Given the description of an element on the screen output the (x, y) to click on. 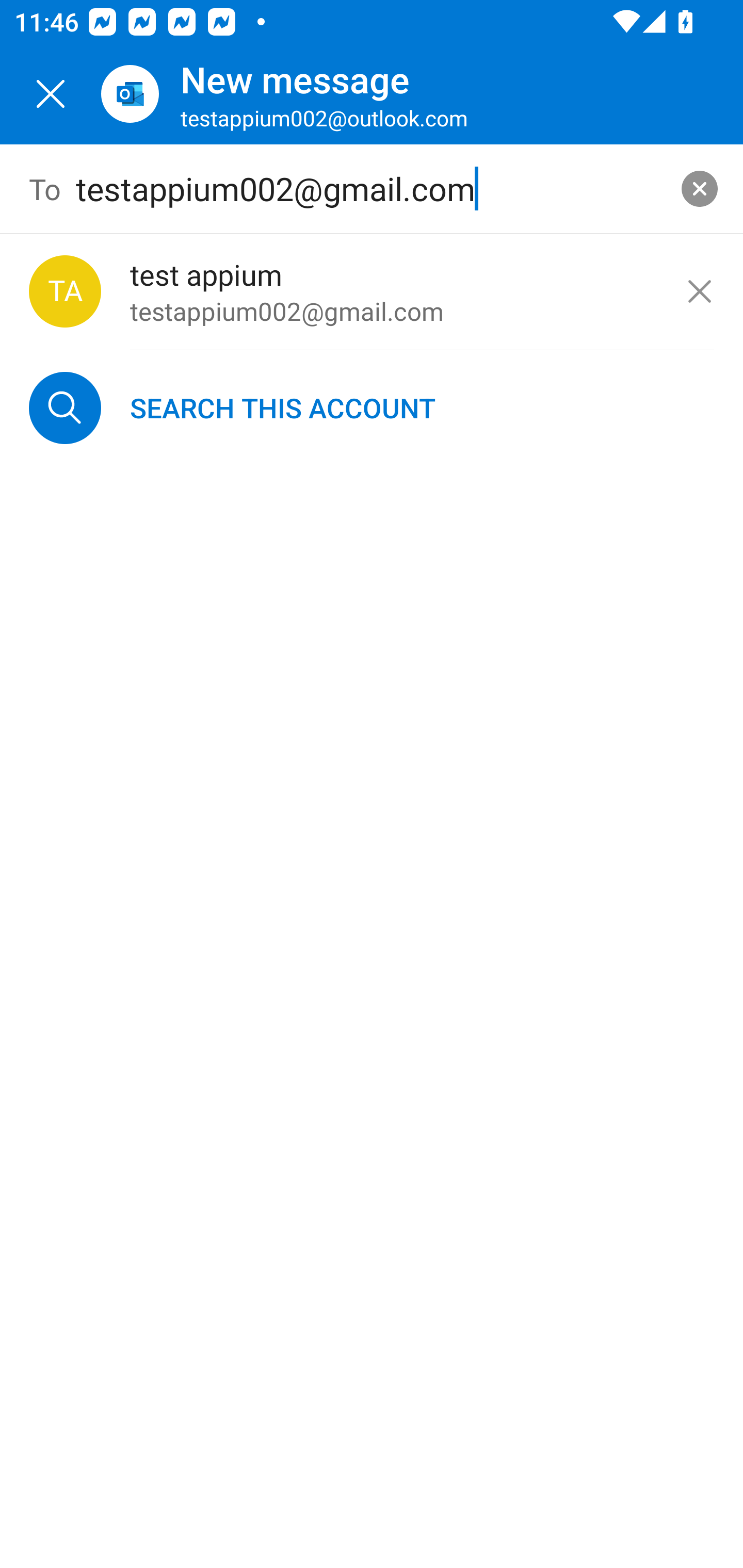
Close (50, 93)
testappium002@gmail.com (371, 188)
clear search (699, 188)
